Given the description of an element on the screen output the (x, y) to click on. 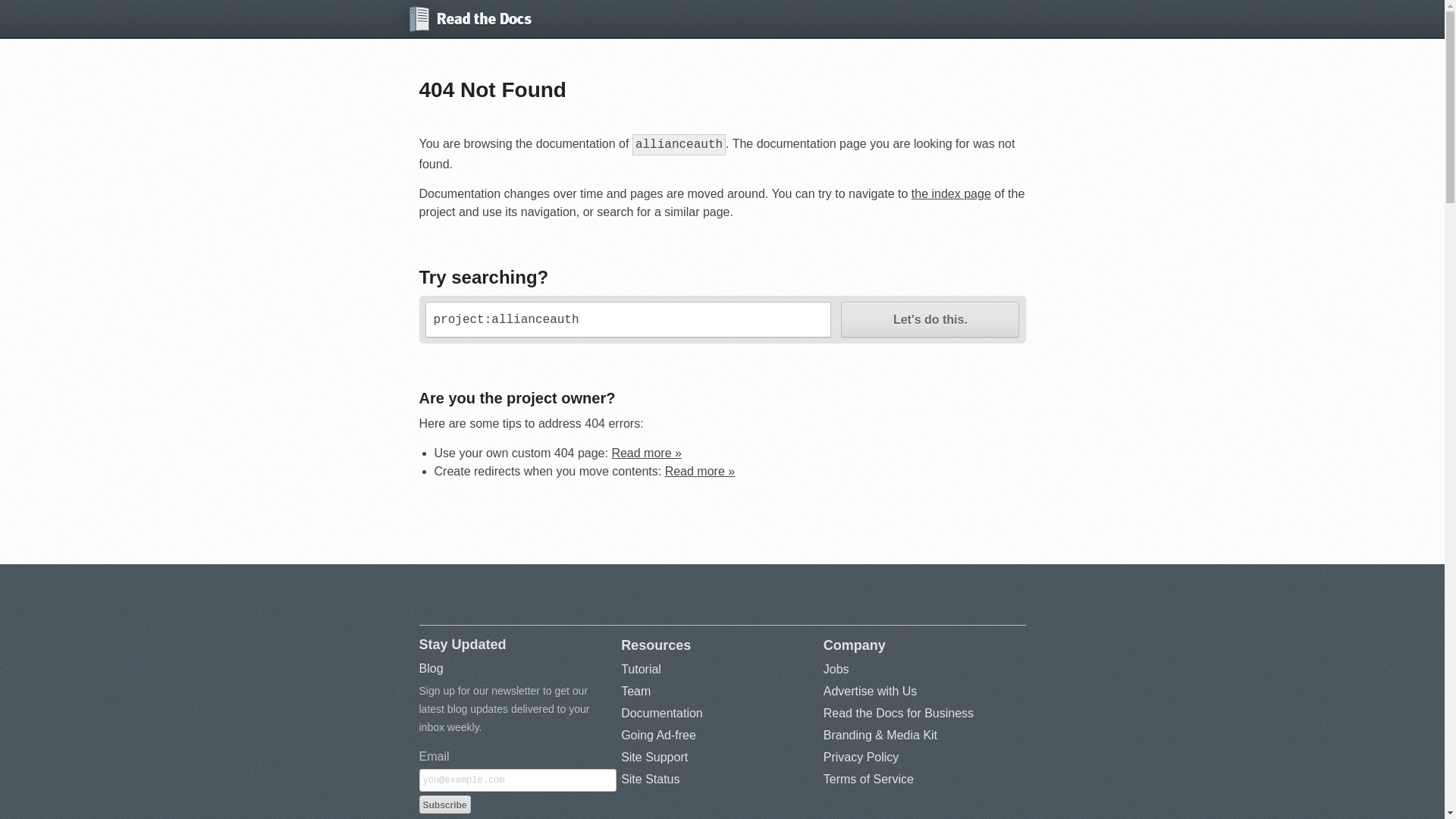
Blog (430, 667)
Site Support (654, 757)
Advertise with Us (870, 690)
project:allianceauth (627, 319)
Let's do this. (930, 319)
Privacy Policy (861, 757)
Going Ad-free (658, 735)
Subscribe (444, 804)
Let's do this. (930, 319)
Read the Docs for Business (899, 712)
the index page (951, 193)
Read the Docs (464, 18)
Terms of Service (869, 779)
Documentation (662, 712)
Tutorial (641, 668)
